Given the description of an element on the screen output the (x, y) to click on. 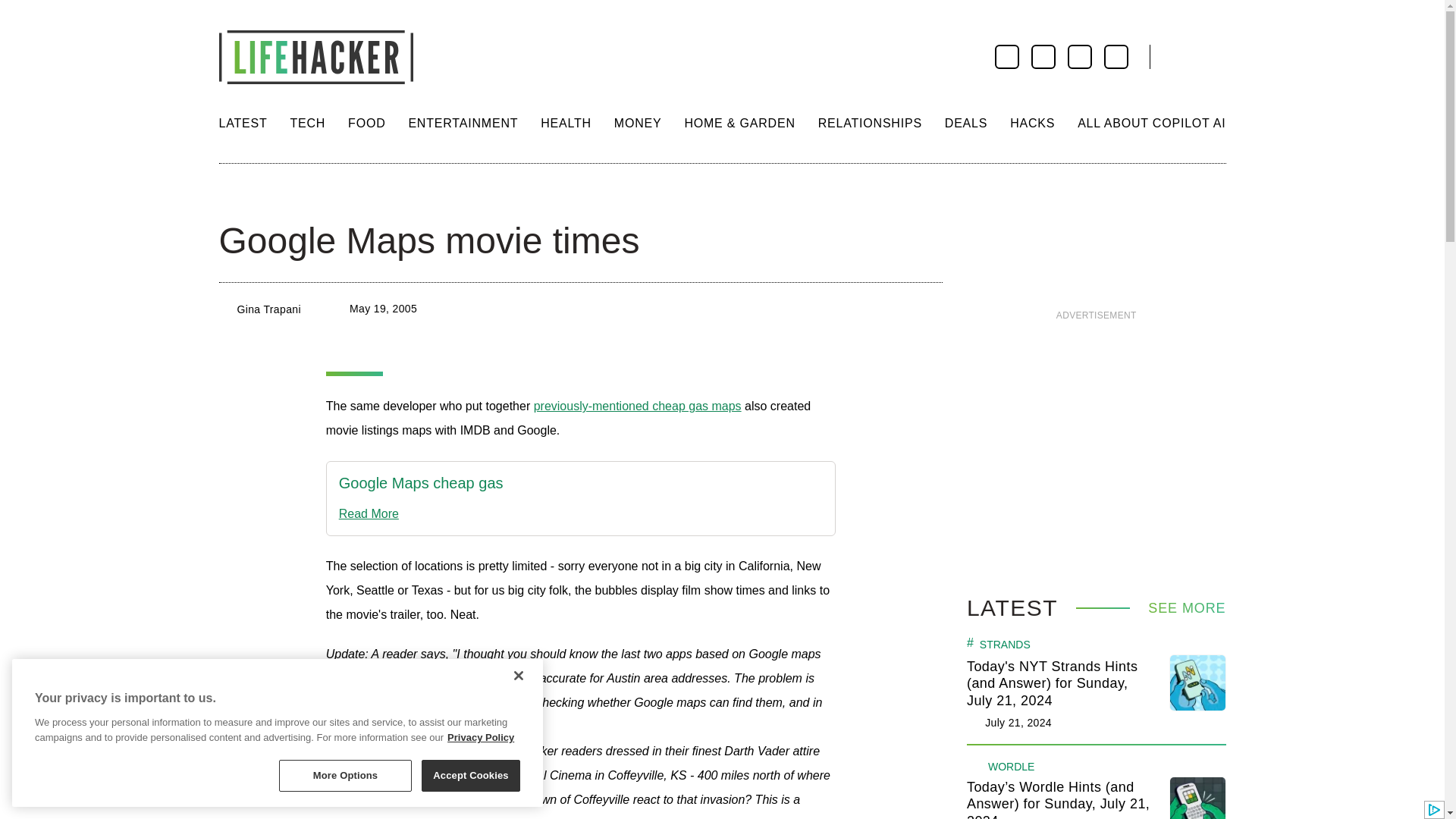
open in a new window (421, 514)
HACKS (1032, 123)
LATEST (242, 123)
RELATIONSHIPS (869, 123)
open in a new window (421, 483)
ALL ABOUT COPILOT AI (1151, 123)
Social Share (232, 193)
FOOD (366, 123)
HEALTH (565, 123)
MONEY (638, 123)
TECH (306, 123)
DEALS (965, 123)
ENTERTAINMENT (462, 123)
open in a new window (637, 405)
